Given the description of an element on the screen output the (x, y) to click on. 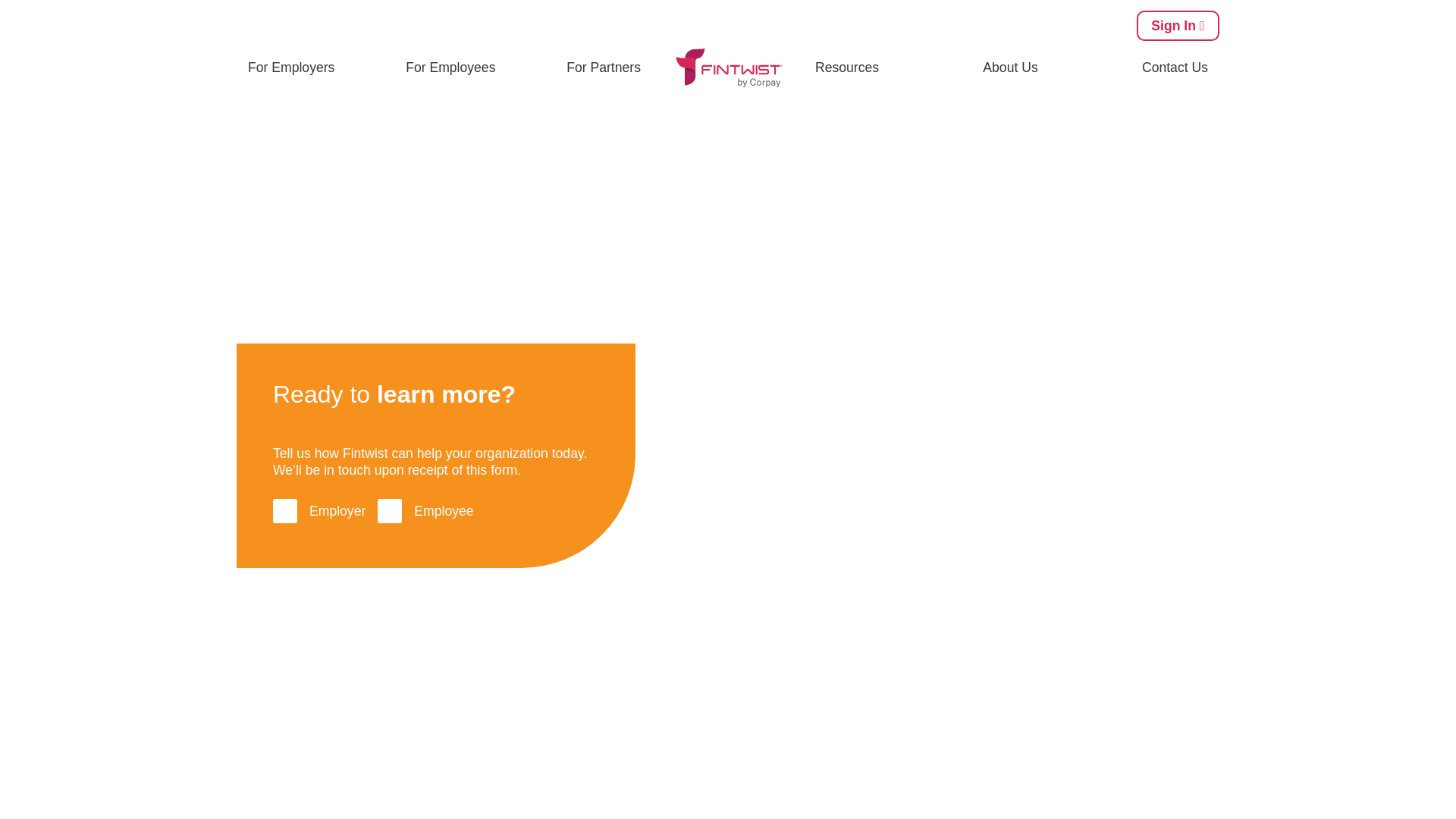
Contact Us (1175, 67)
Home (250, 141)
About Us (1009, 67)
For Partners (603, 67)
For Employees (450, 67)
employee (389, 510)
For Employers (290, 67)
employer (285, 510)
Fintwist Homepage (727, 66)
Resources (846, 67)
